Given the description of an element on the screen output the (x, y) to click on. 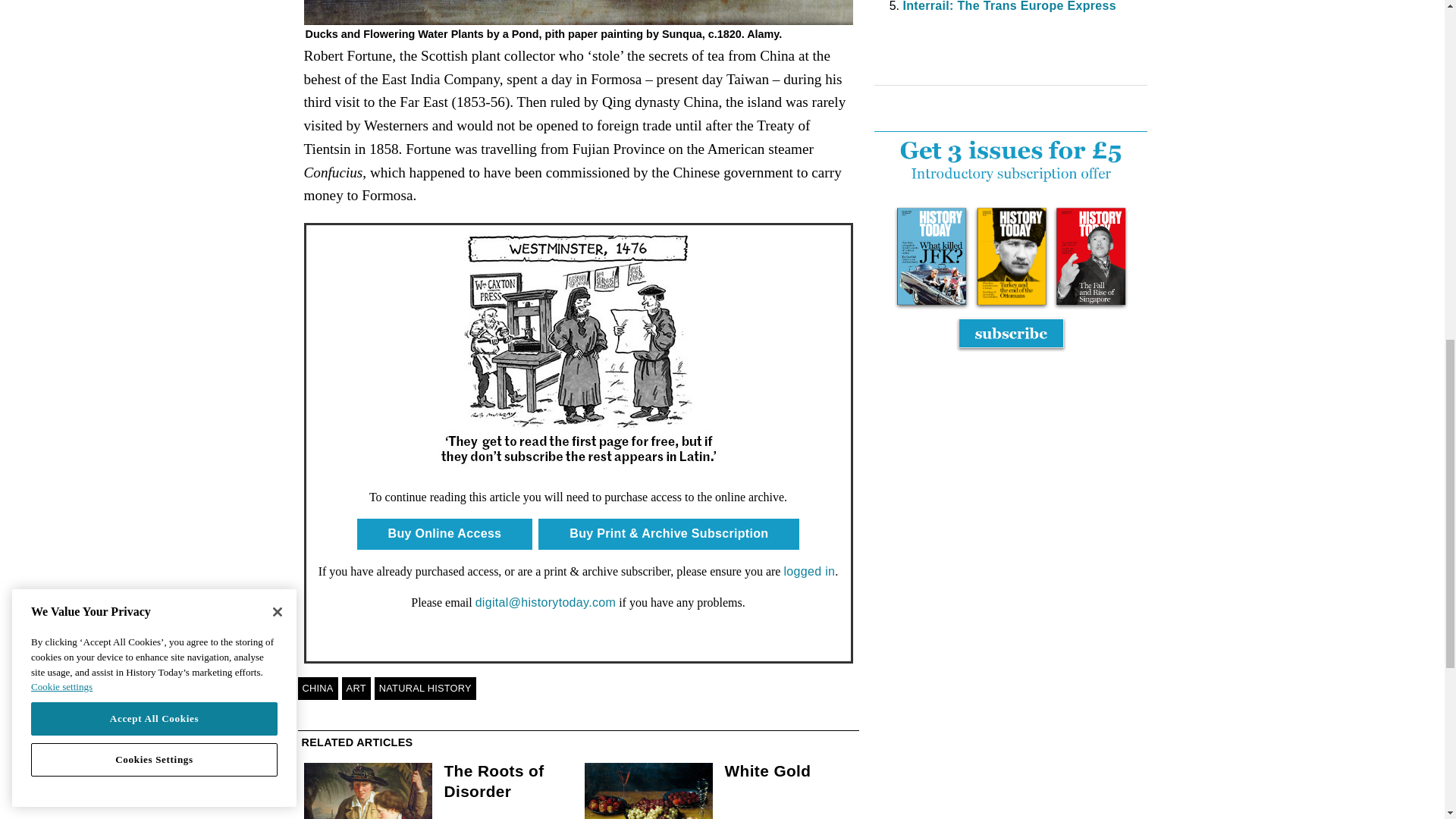
Buy Online Access (444, 533)
CHINA (317, 688)
logged in (808, 571)
